Given the description of an element on the screen output the (x, y) to click on. 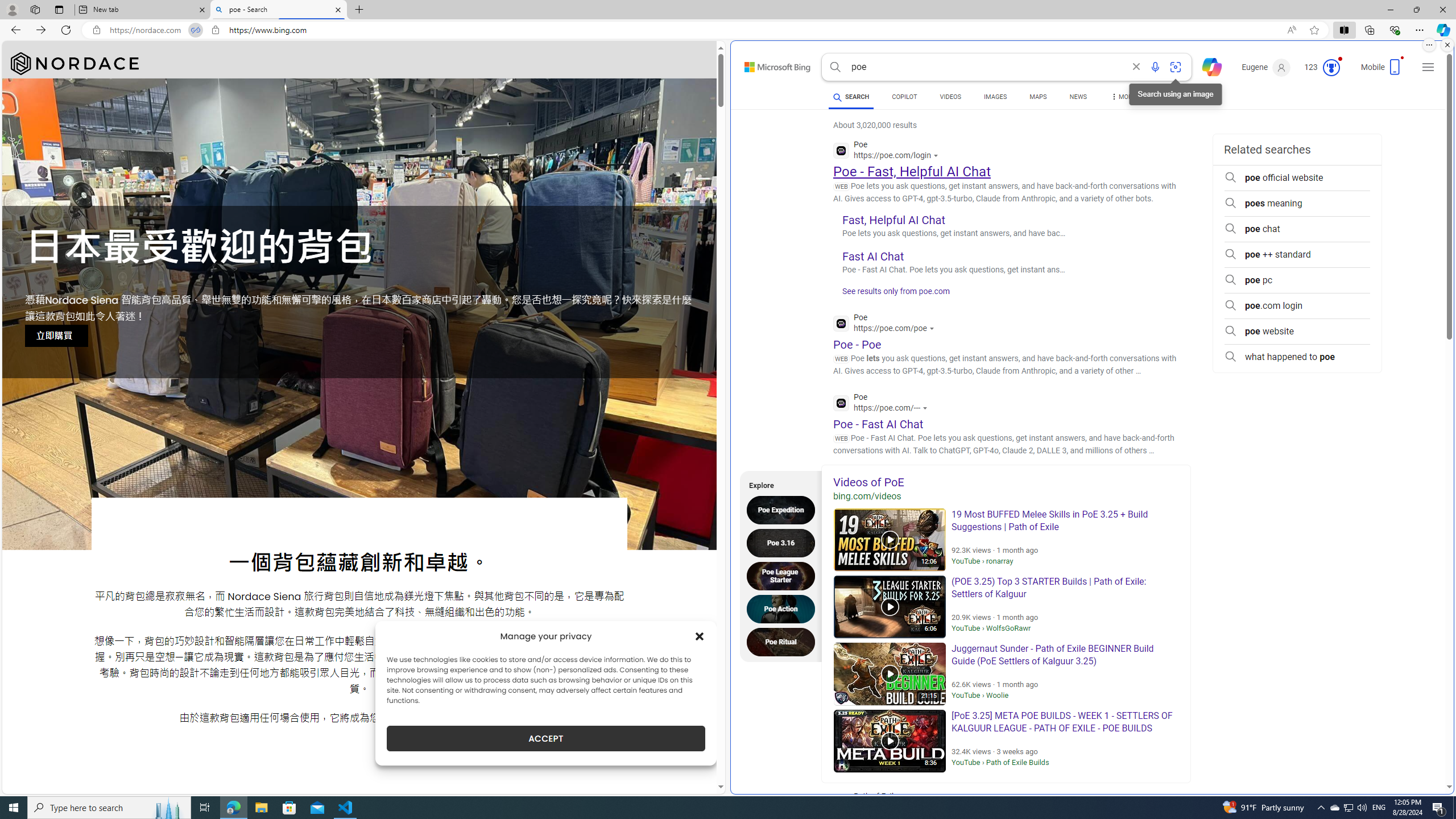
Poe Action (783, 608)
Poe League Starter (783, 575)
MAPS (1038, 98)
AutomationID: mfa_root (1406, 752)
poe pc (1297, 280)
Global web icon (841, 402)
poe official website (1297, 177)
Settings and quick links (1428, 67)
